Given the description of an element on the screen output the (x, y) to click on. 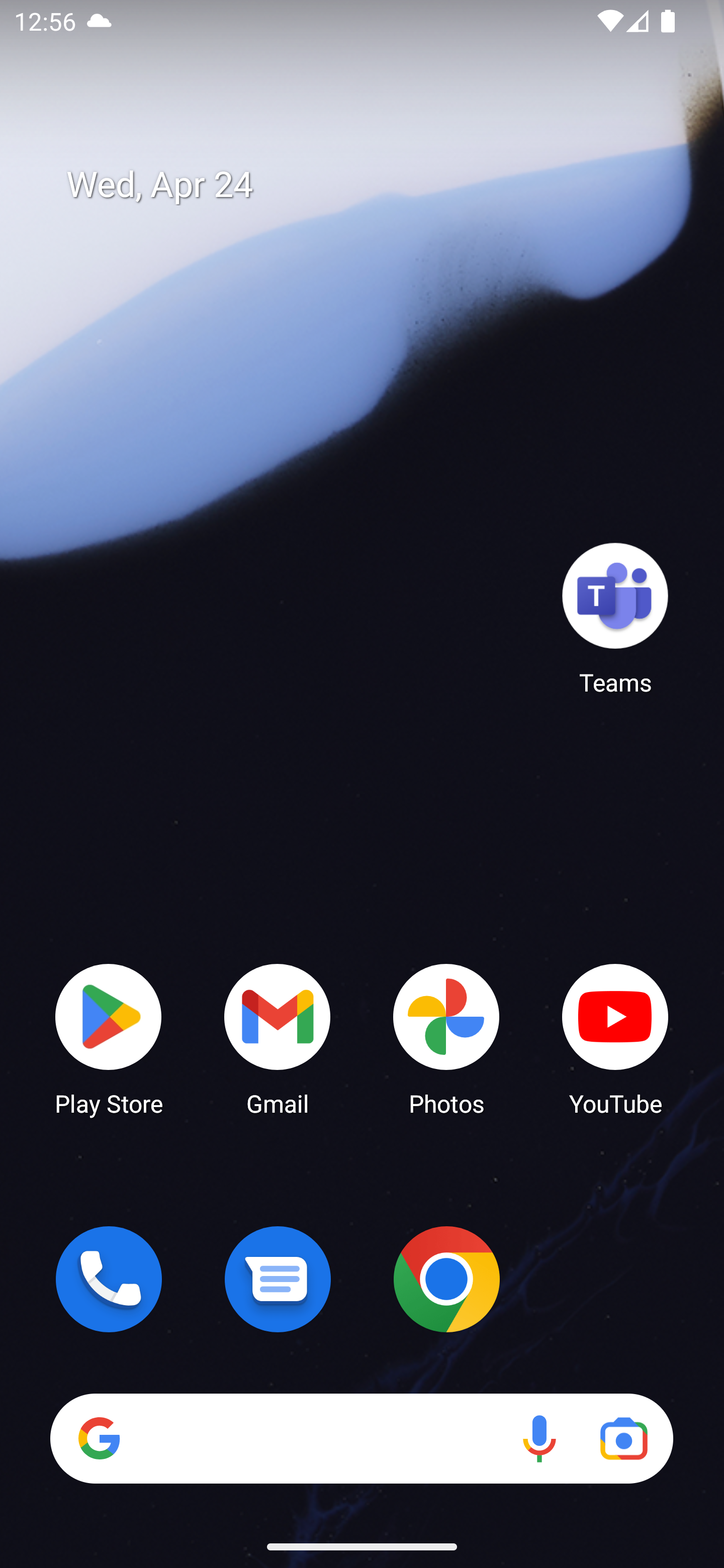
Wed, Apr 24 (375, 184)
Teams (615, 617)
Play Store (108, 1038)
Gmail (277, 1038)
Photos (445, 1038)
YouTube (615, 1038)
Phone (108, 1279)
Messages (277, 1279)
Chrome (446, 1279)
Search Voice search Google Lens (361, 1438)
Voice search (539, 1438)
Google Lens (623, 1438)
